Given the description of an element on the screen output the (x, y) to click on. 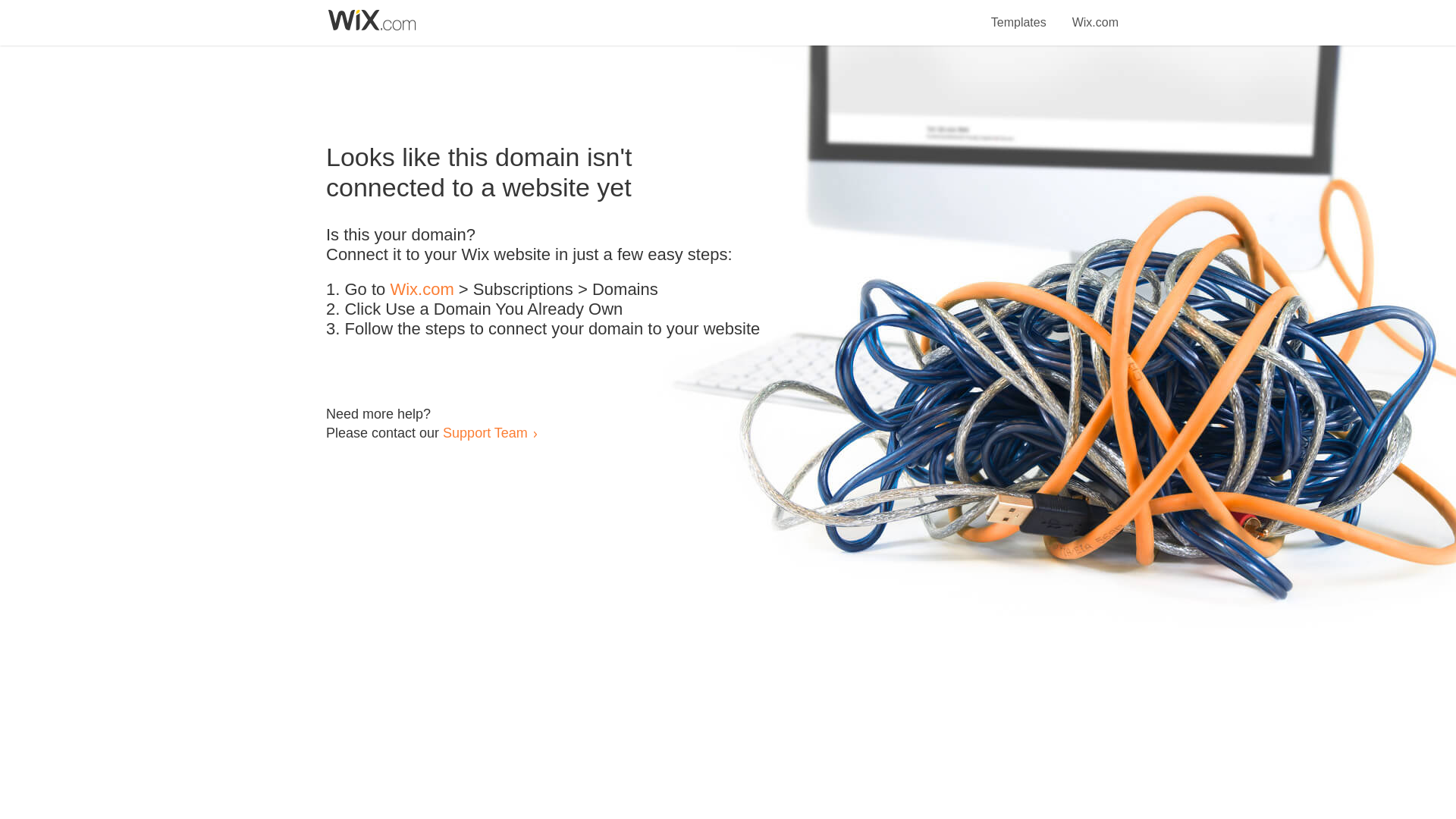
Wix.com (421, 289)
Wix.com (1095, 14)
Templates (1018, 14)
Support Team (484, 432)
